Given the description of an element on the screen output the (x, y) to click on. 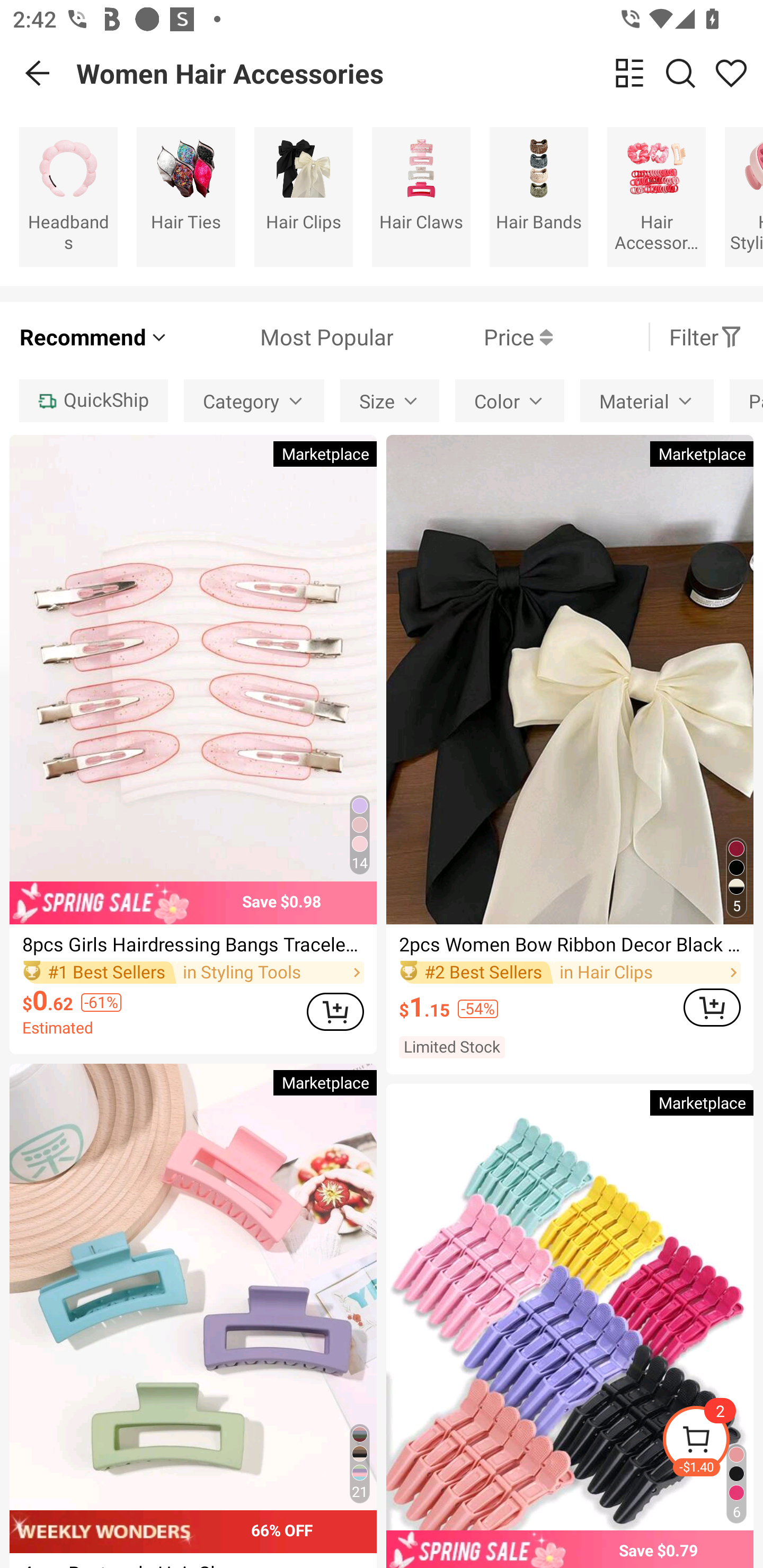
Women Hair Accessories change view Search Share (419, 72)
change view (629, 72)
Search (679, 72)
Share (730, 72)
Headbands (68, 196)
Hair Ties (185, 196)
Hair Clips (303, 196)
Hair Claws (421, 196)
Hair Bands (538, 196)
Hair Accessory Sets (656, 196)
Recommend (94, 336)
Most Popular (280, 336)
Price (472, 336)
Filter (705, 336)
QuickShip (93, 400)
Category (253, 400)
Size (389, 400)
Color (509, 400)
Material (646, 400)
#1 Best Sellers in Styling Tools (192, 971)
#2 Best Sellers in Hair Clips (569, 971)
ADD TO CART (711, 1007)
ADD TO CART (334, 1011)
-$1.40 (712, 1441)
